Given the description of an element on the screen output the (x, y) to click on. 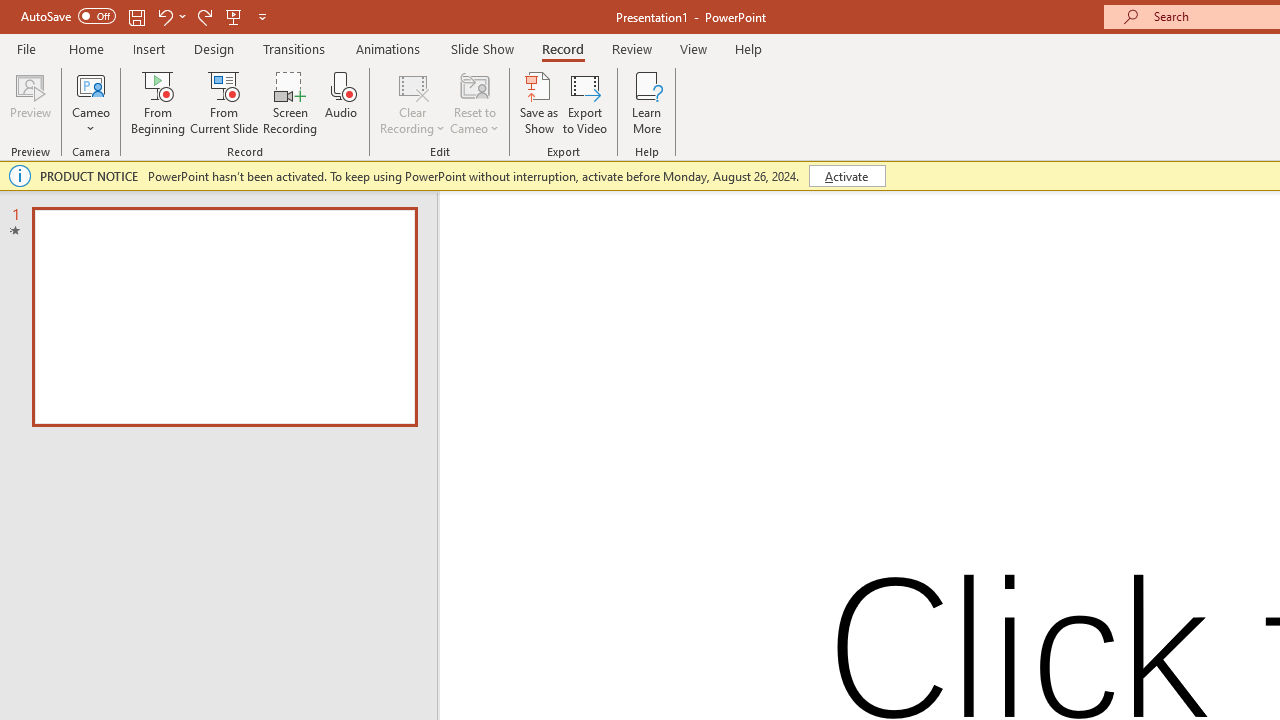
Clear Recording (412, 102)
Learn More (646, 102)
Save as Show (539, 102)
Screen Recording (290, 102)
From Beginning... (158, 102)
Audio (341, 102)
